Given the description of an element on the screen output the (x, y) to click on. 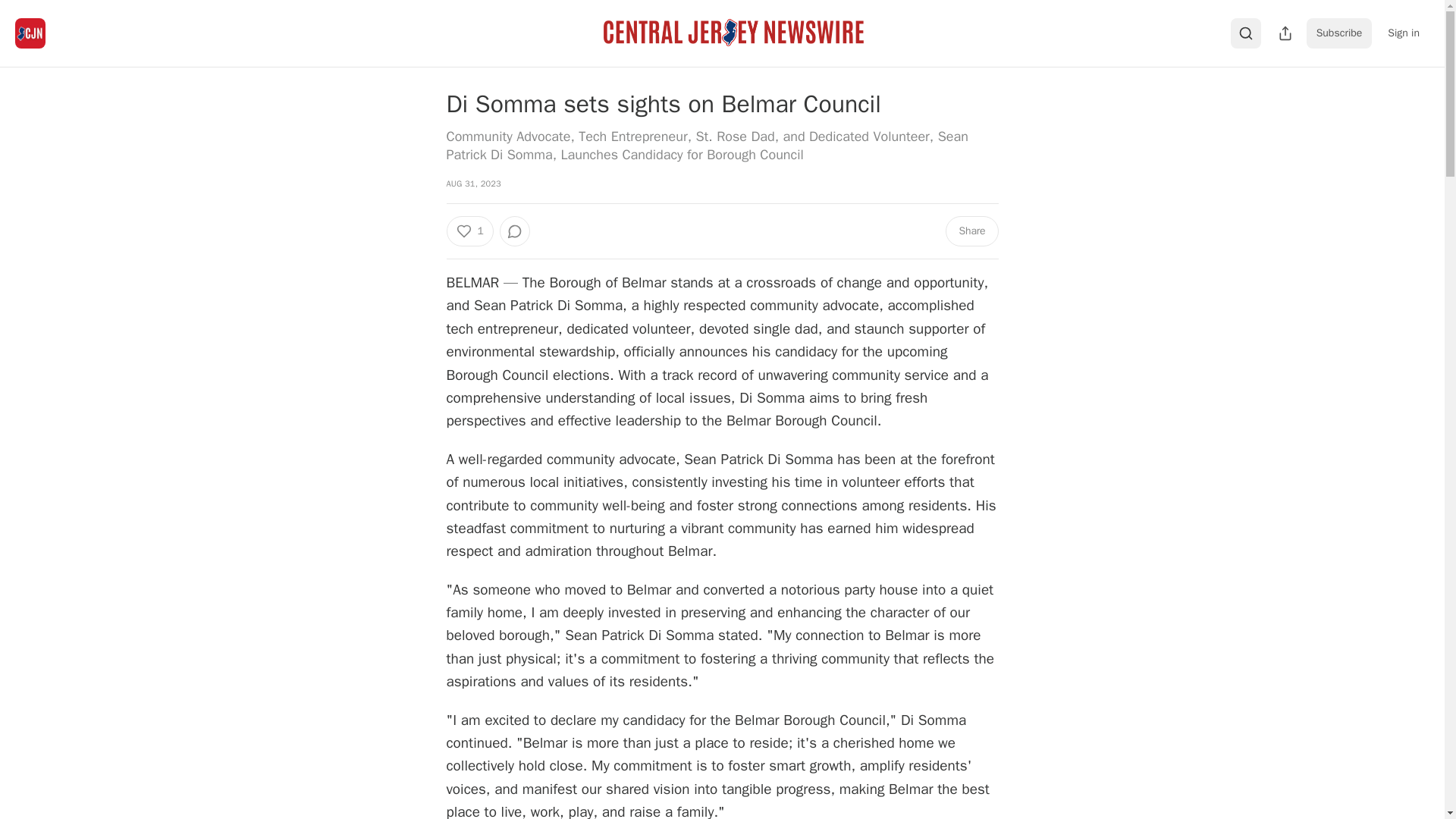
1 (469, 231)
Subscribe (1339, 33)
Share (970, 231)
Sign in (1403, 33)
